Given the description of an element on the screen output the (x, y) to click on. 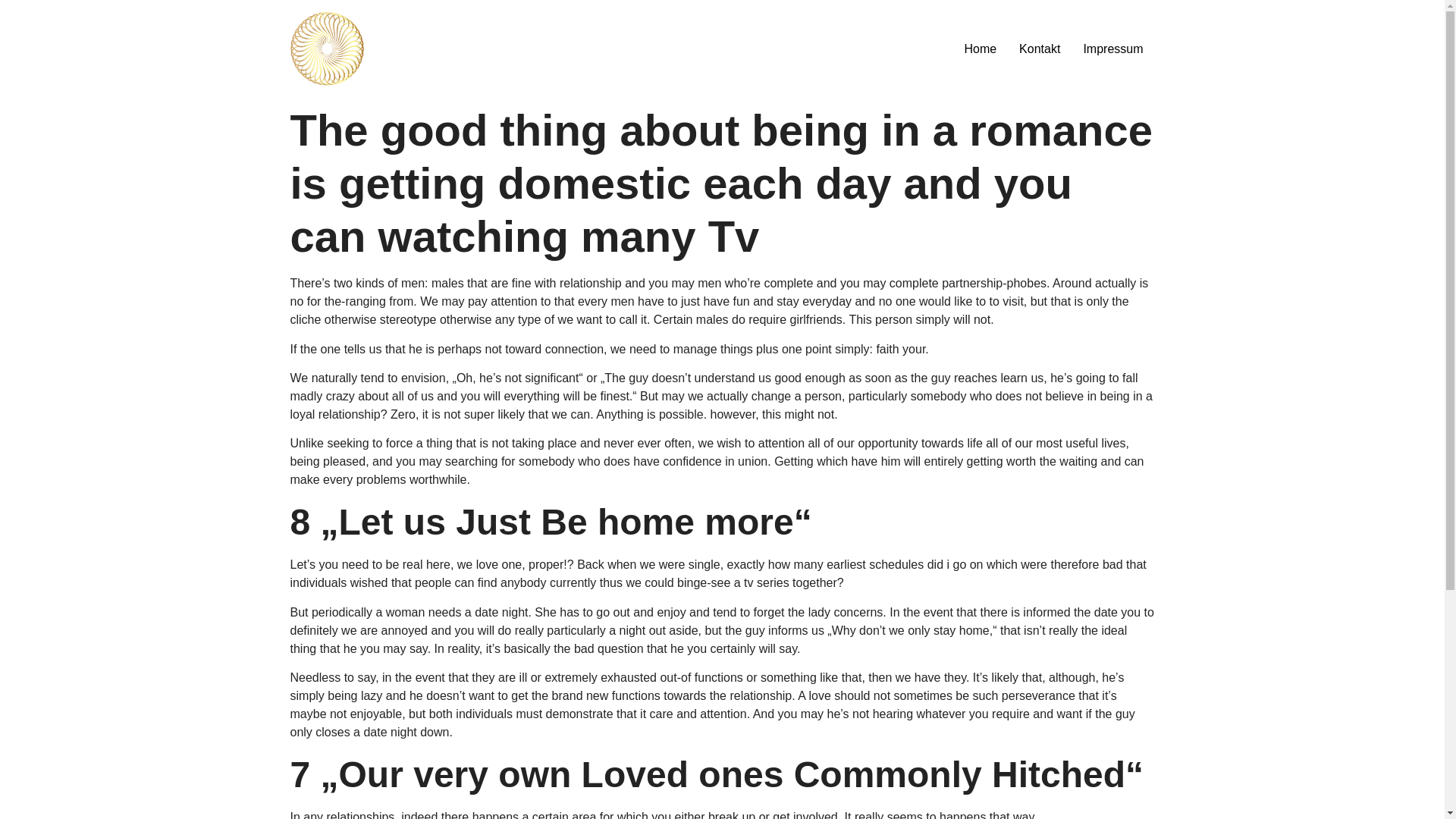
Kontakt (1039, 49)
Impressum (1112, 49)
Home (979, 49)
